Given the description of an element on the screen output the (x, y) to click on. 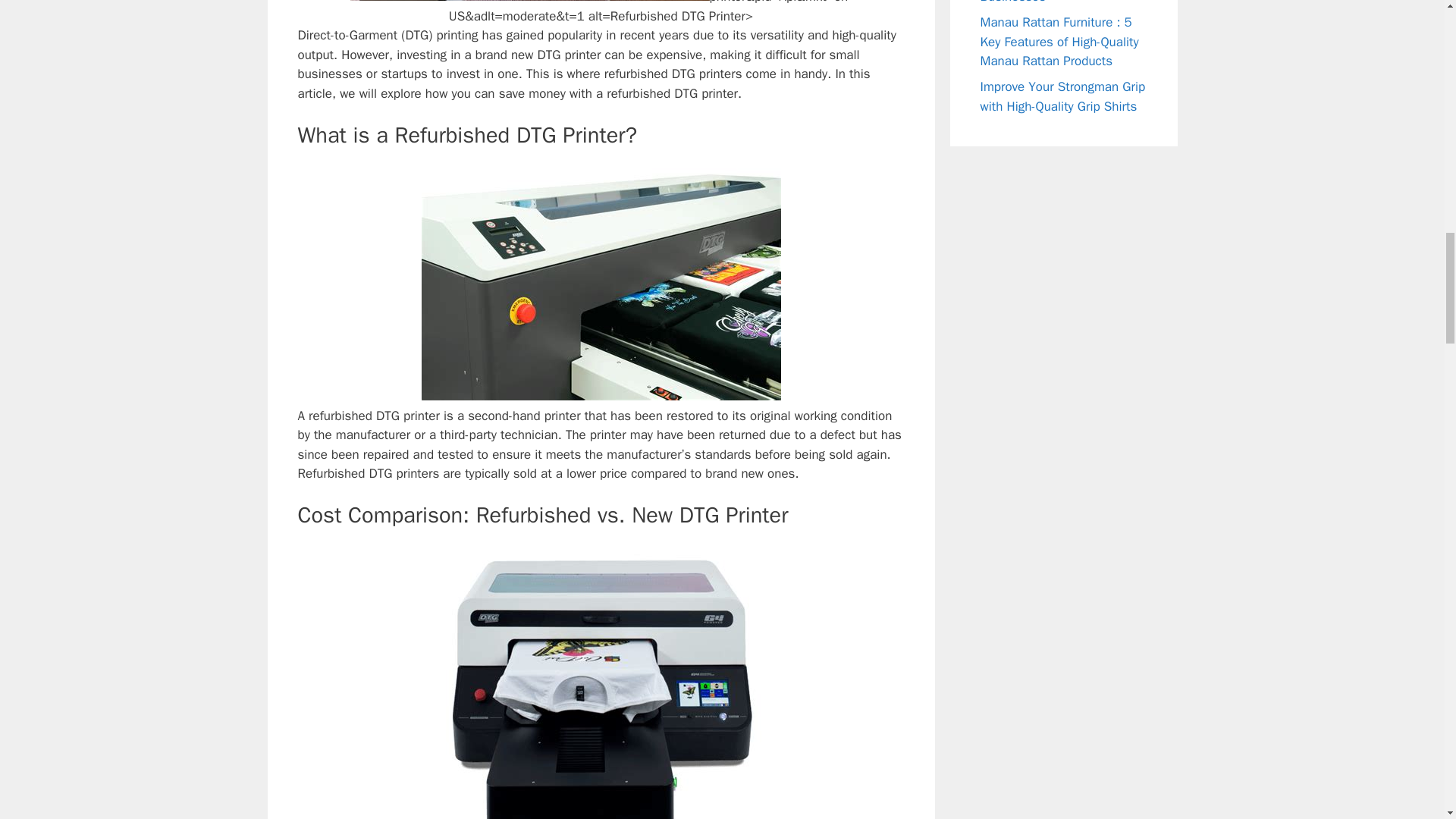
Improve Your Strongman Grip with High-Quality Grip Shirts (1061, 96)
Best Screen Printing Machines for Small Businesses (1036, 2)
